Given the description of an element on the screen output the (x, y) to click on. 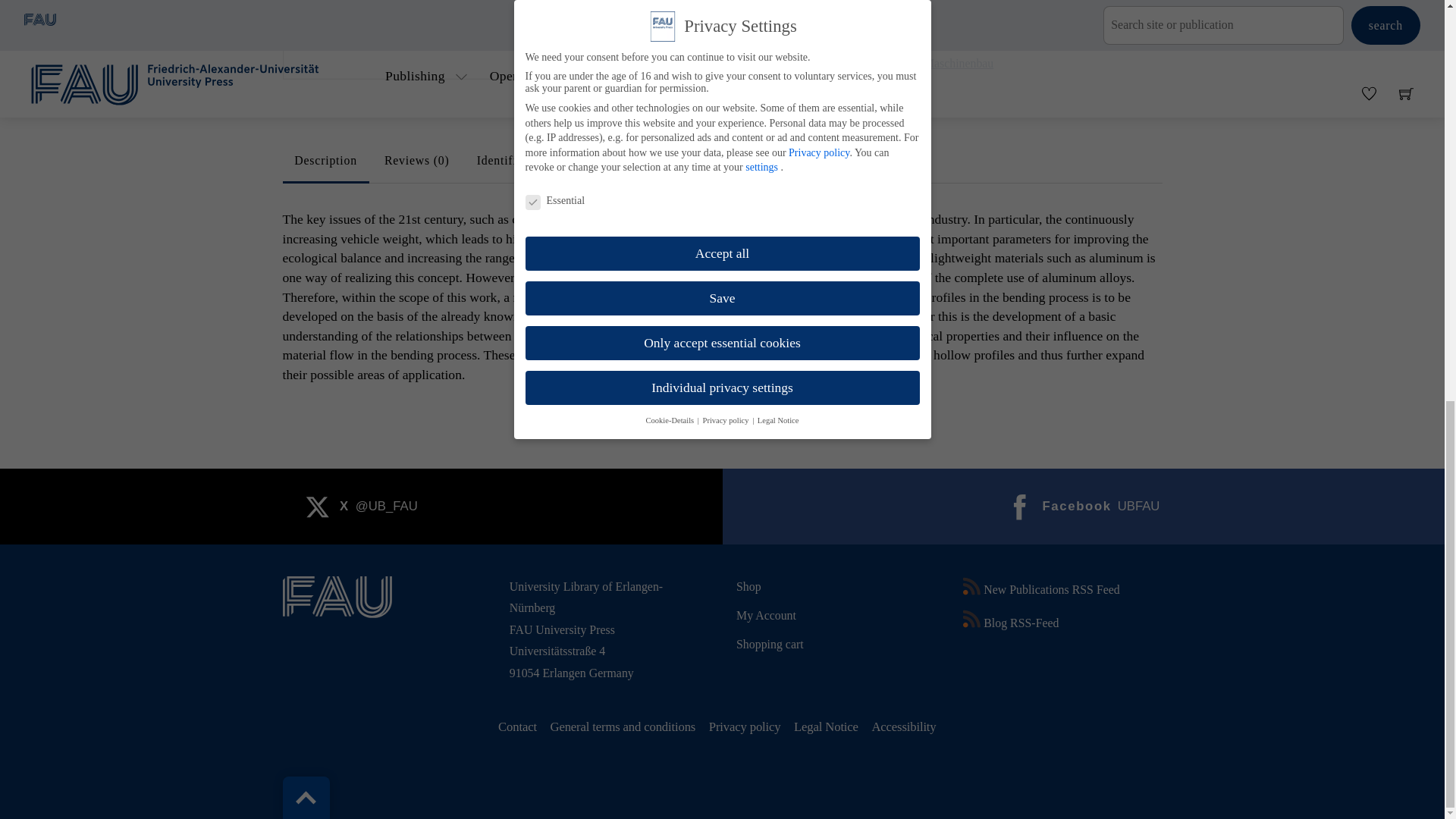
9783961476664 (509, 40)
